Given the description of an element on the screen output the (x, y) to click on. 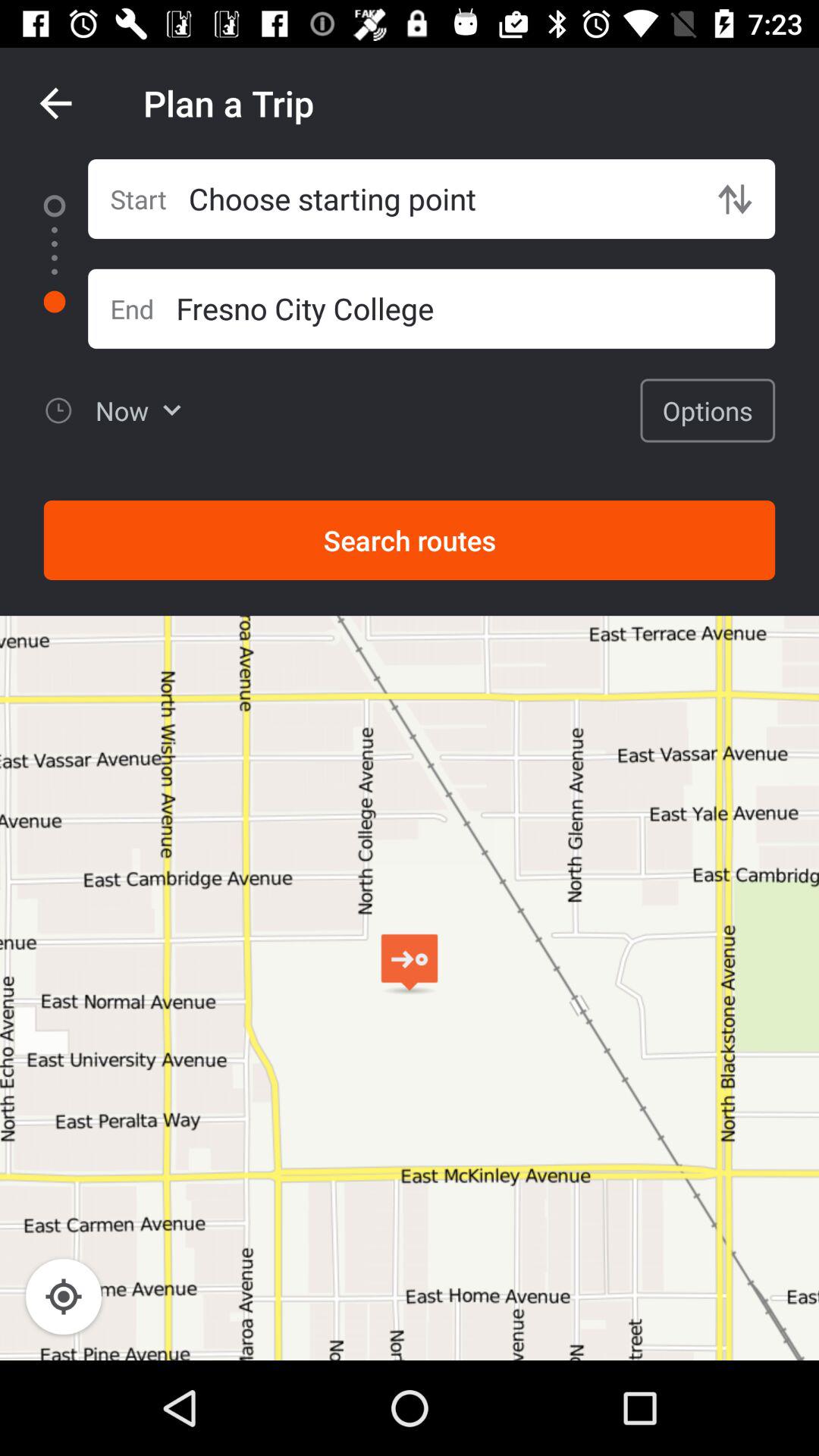
select item to the right of now icon (707, 410)
